Given the description of an element on the screen output the (x, y) to click on. 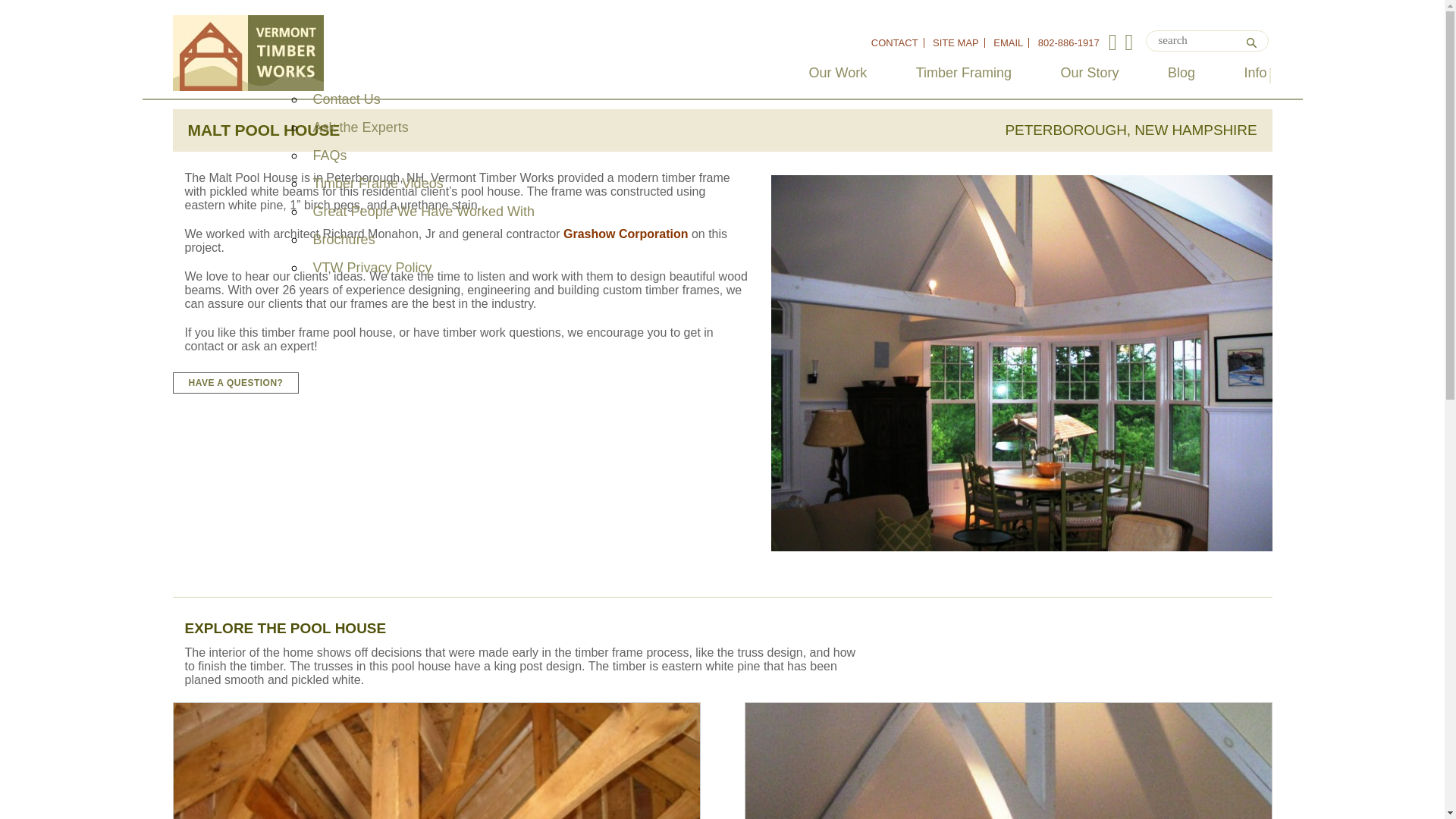
Blog (1181, 72)
Info (1254, 72)
Our Story (1088, 72)
SITE MAP (955, 42)
CONTACT (894, 42)
EMAIL (1007, 42)
Our Work (838, 72)
Our Work (838, 72)
Timber Framing (963, 72)
Our Story (1088, 72)
Timber Framing (963, 72)
